Given the description of an element on the screen output the (x, y) to click on. 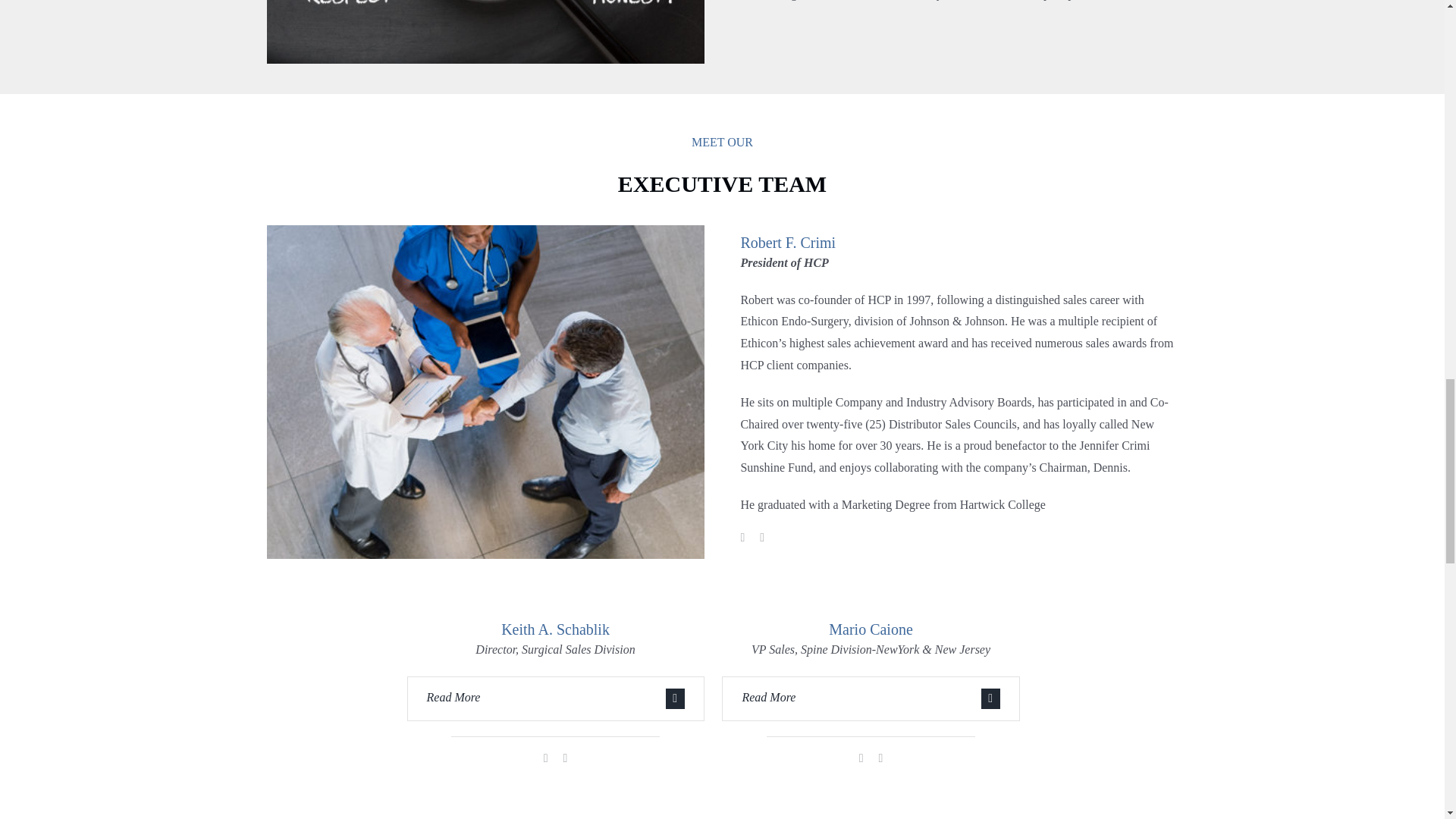
Core Values Diagram (484, 31)
Read More (869, 698)
Read More (555, 698)
